Given the description of an element on the screen output the (x, y) to click on. 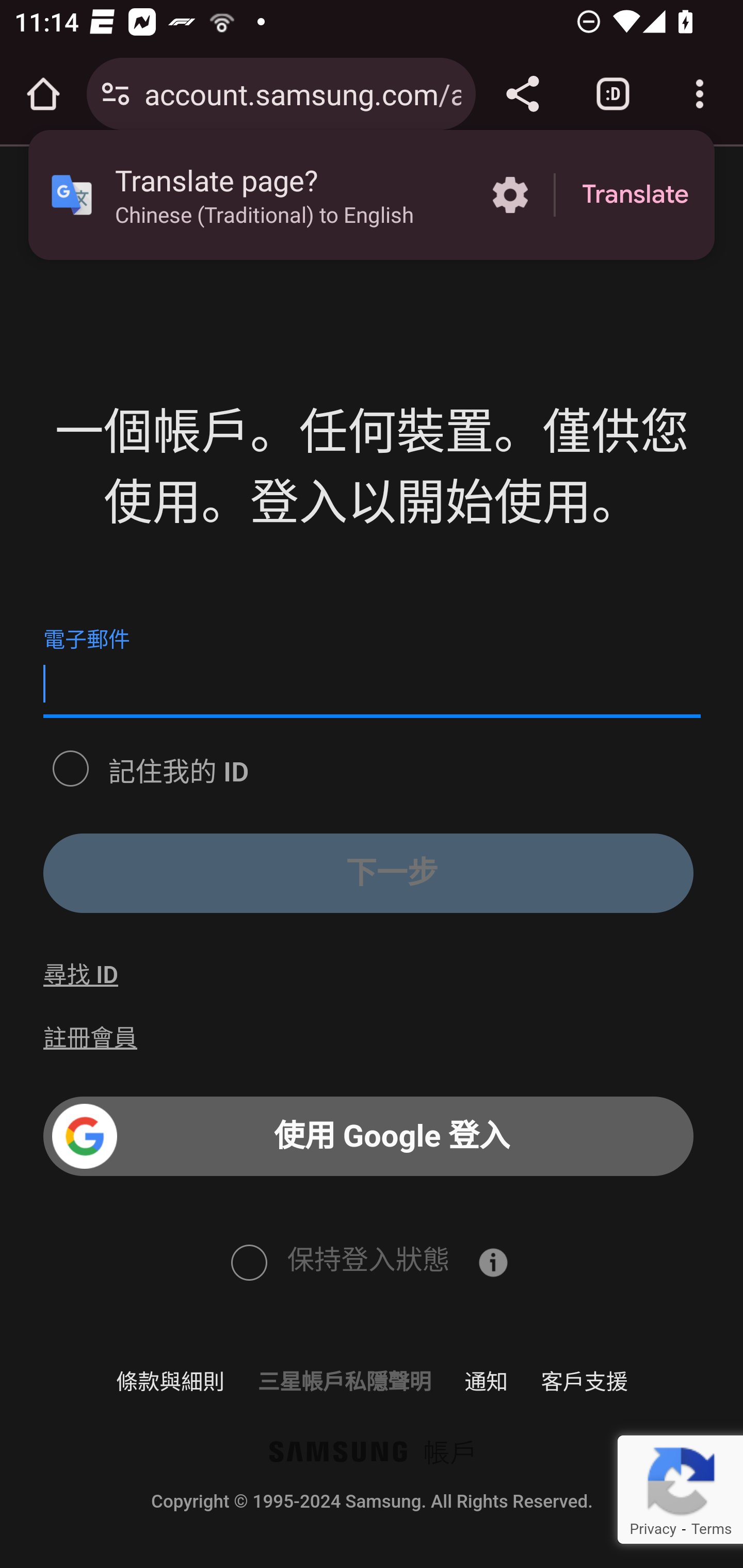
Open the home page (43, 93)
Connection is secure (115, 93)
Share (522, 93)
Switch or close tabs (612, 93)
Customize and control Google Chrome (699, 93)
Translate (634, 195)
More options in the Translate page? (509, 195)
記住我的 ID (70, 766)
下一步 (368, 873)
尋找 ID (80, 974)
註冊會員 (90, 1037)
使用 Google 登入 (368, 1136)
information (492, 1262)
保持登入狀態 (247, 1260)
條款與細則 (170, 1381)
三星帳戶私隱聲明 (343, 1381)
通知 (486, 1381)
客戶支援 (583, 1381)
Privacy (652, 1528)
Terms (711, 1528)
